Given the description of an element on the screen output the (x, y) to click on. 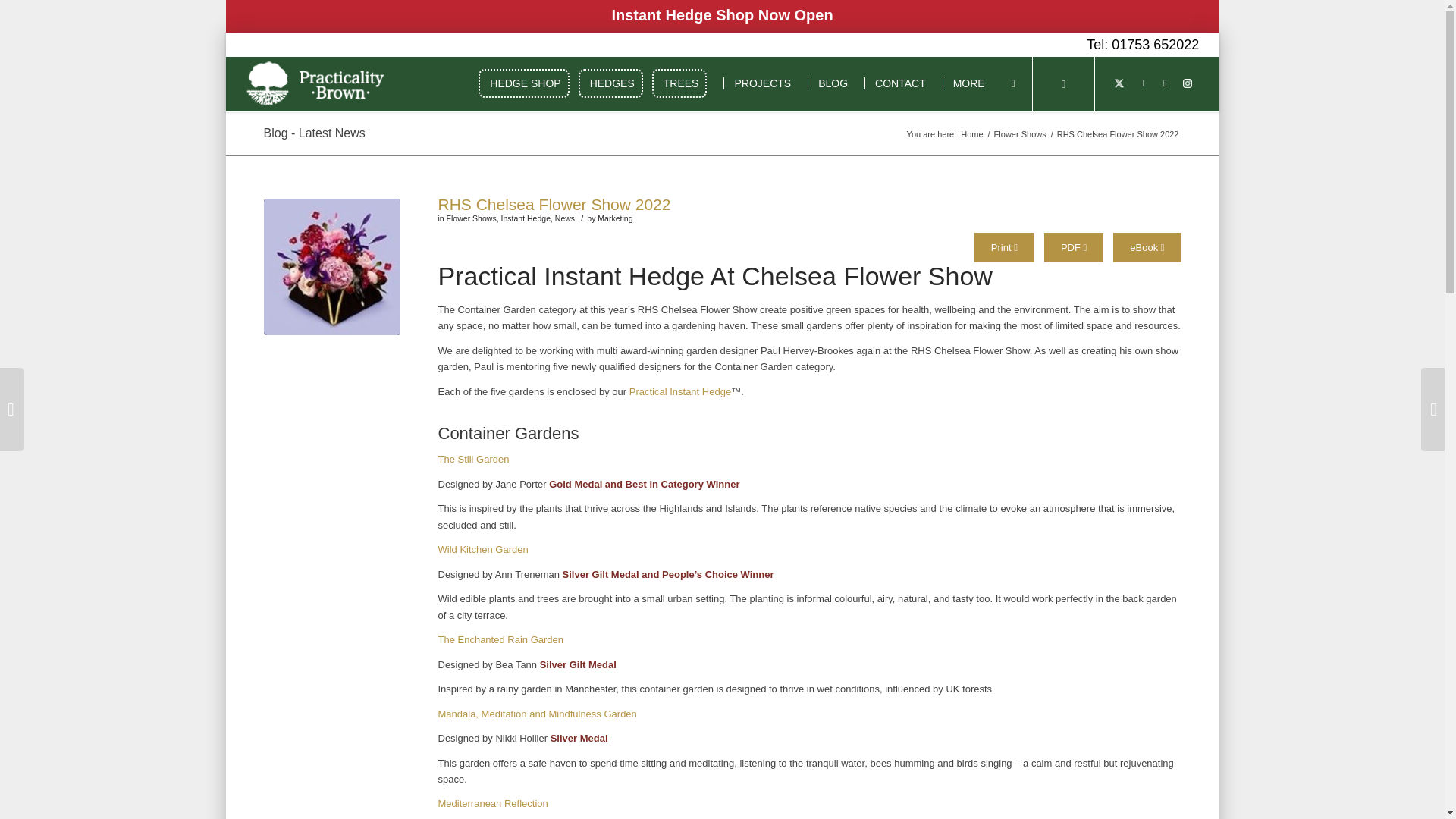
Instant Hedge Shop Now Open (721, 14)
TREES (682, 83)
Permanent Link: RHS Chelsea Flower Show 2022 (554, 203)
HEDGE SHOP (526, 83)
RHS Chelsea Flower Show 2022 (331, 266)
Posts by Marketing (613, 217)
Practicality Brown (971, 134)
CONTACT (898, 83)
BLOG (830, 83)
Permanent Link: Blog - Latest News (314, 132)
